Given the description of an element on the screen output the (x, y) to click on. 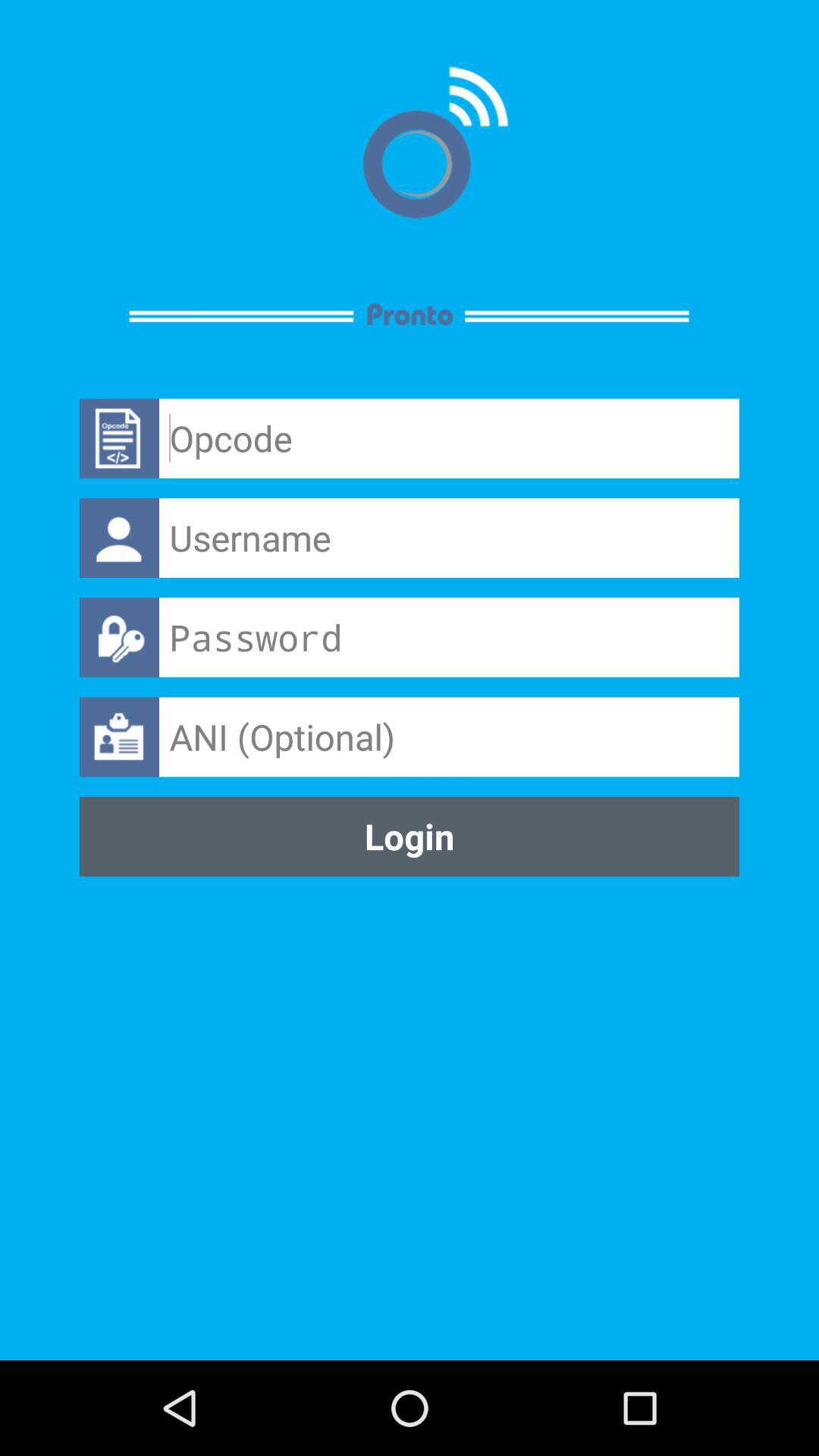
enter the ani (449, 736)
